Given the description of an element on the screen output the (x, y) to click on. 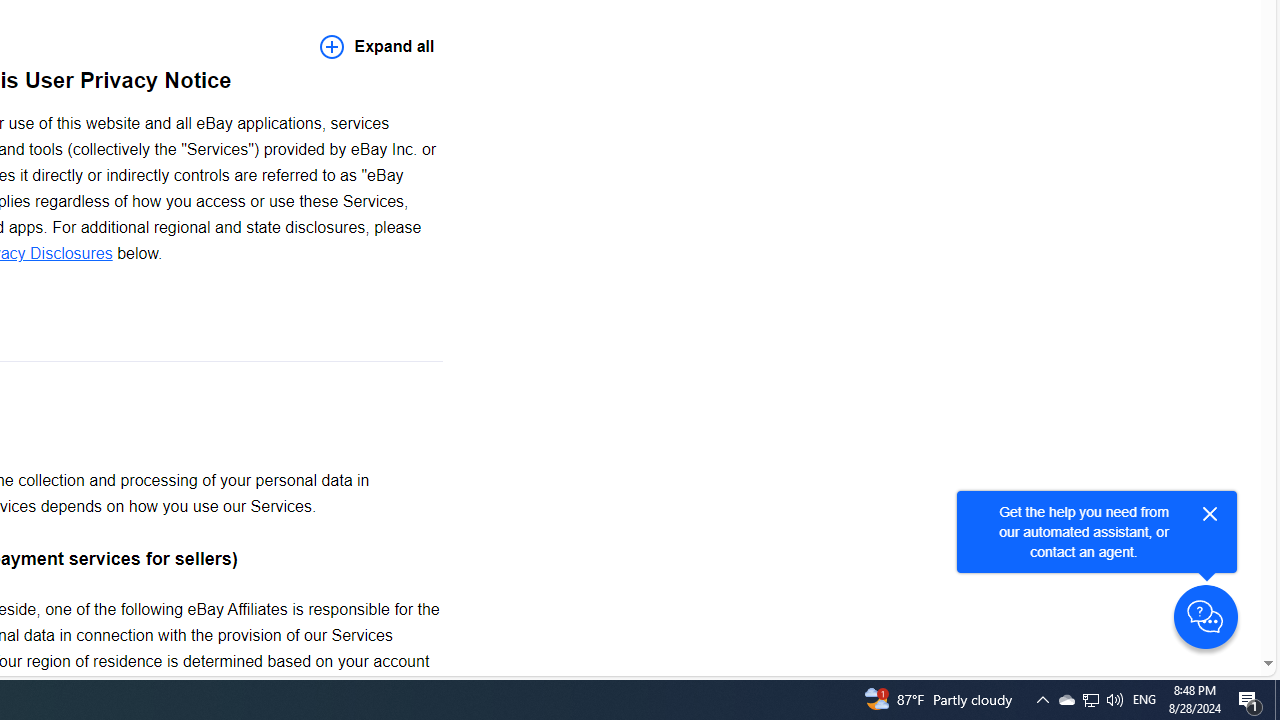
Expand all (377, 45)
